Given the description of an element on the screen output the (x, y) to click on. 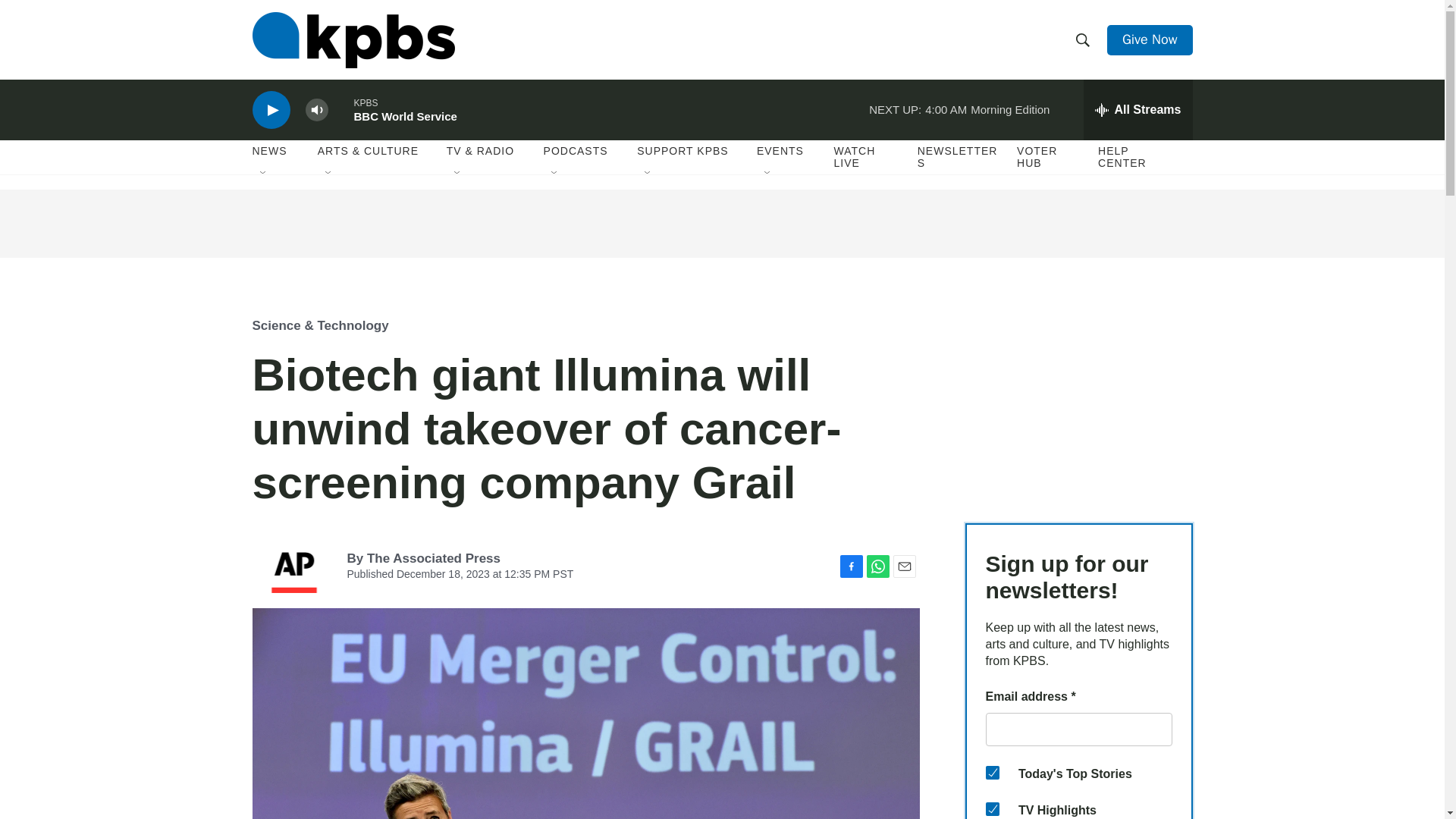
5 (991, 808)
4 (991, 772)
